Given the description of an element on the screen output the (x, y) to click on. 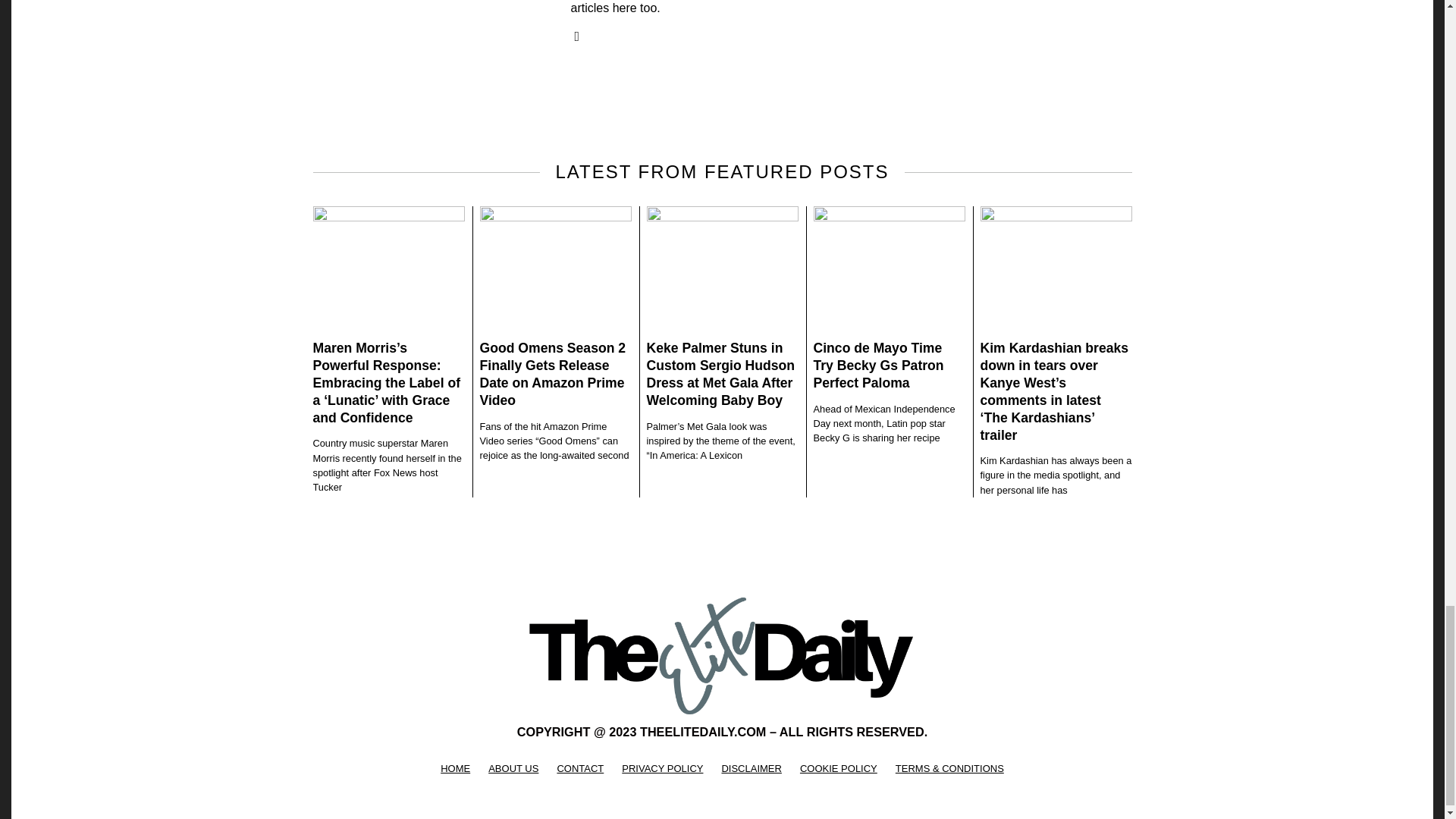
ABOUT US (513, 768)
PRIVACY POLICY (661, 768)
HOME (454, 768)
COOKIE POLICY (838, 768)
CONTACT (579, 768)
Cinco de Mayo Time Try Becky Gs Patron Perfect Paloma (877, 365)
DISCLAIMER (750, 768)
